Given the description of an element on the screen output the (x, y) to click on. 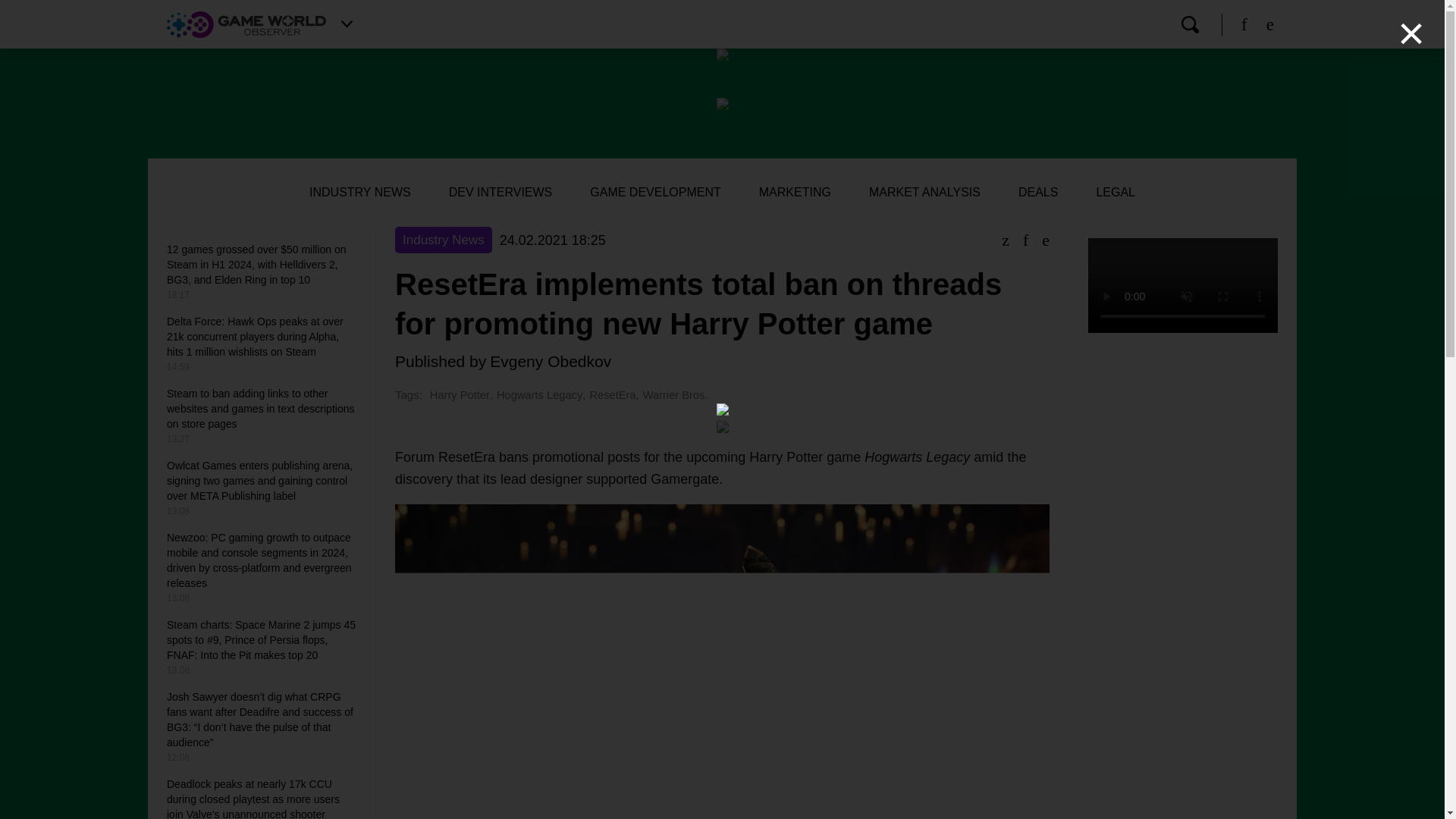
DEALS (1037, 192)
MARKET ANALYSIS (924, 192)
Home (246, 23)
INDUSTRY NEWS (359, 192)
MARKETING (794, 192)
LEGAL (1115, 192)
Search (1189, 23)
DEV INTERVIEWS (500, 192)
